Given the description of an element on the screen output the (x, y) to click on. 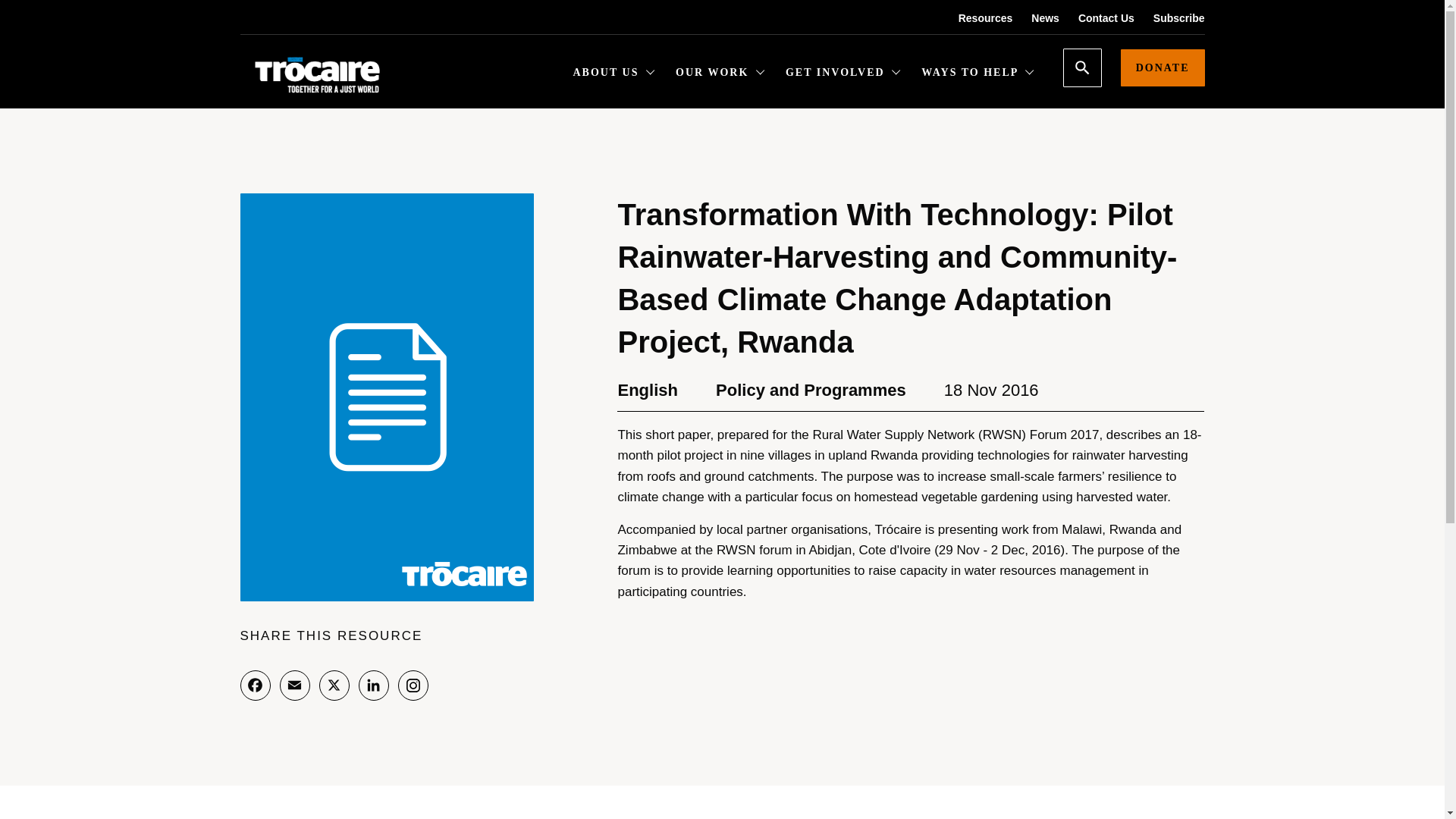
Contact Us (1096, 17)
LinkedIn (373, 685)
Email (293, 685)
WAYS TO HELP (977, 74)
News (1035, 17)
Facebook (254, 685)
DONATE (1163, 67)
GET INVOLVED (843, 74)
Instagram (412, 685)
ABOUT US (614, 74)
